Given the description of an element on the screen output the (x, y) to click on. 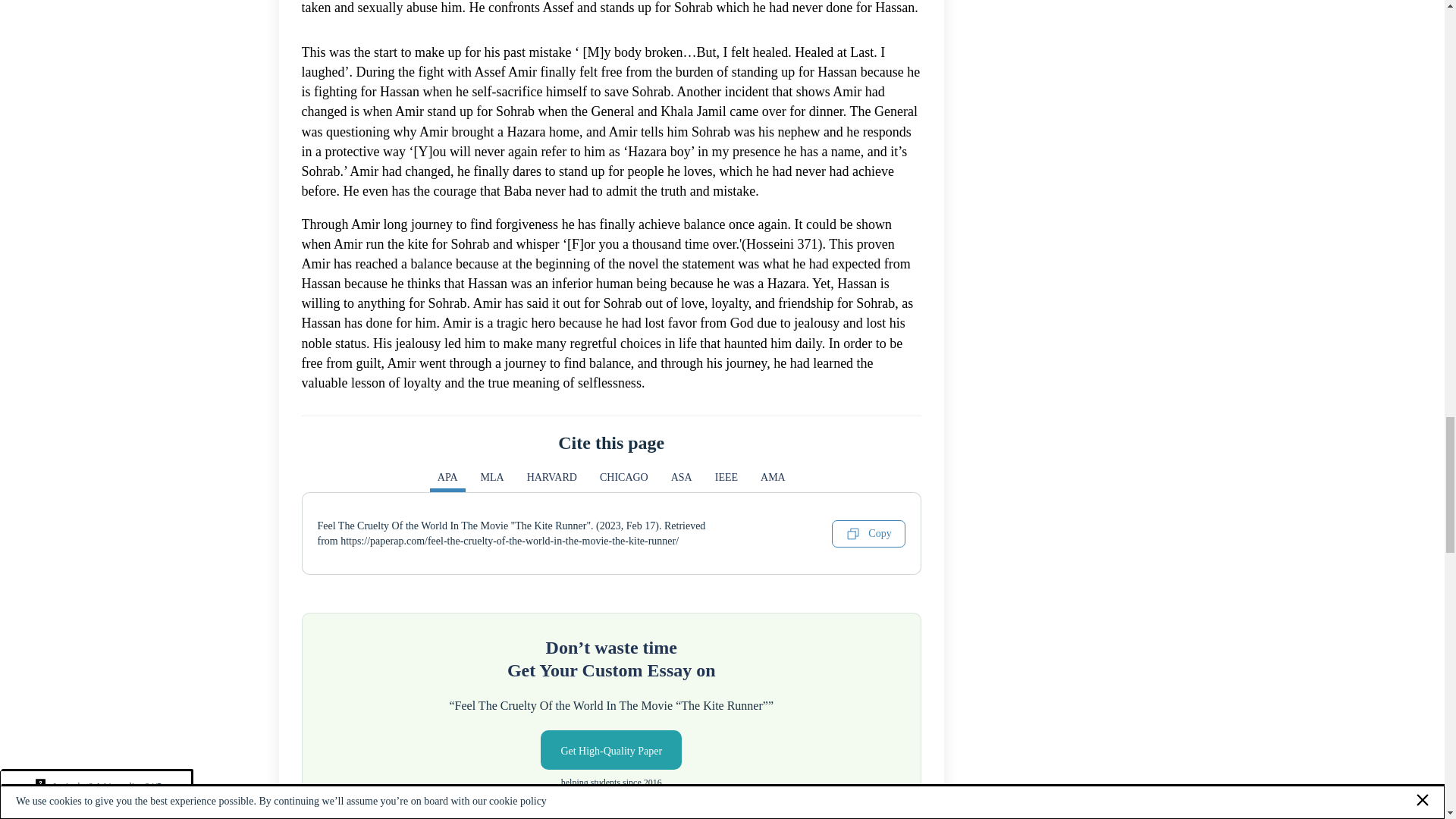
MLA (492, 481)
APA (447, 481)
AMA (772, 481)
Copy (868, 533)
HARVARD (552, 481)
CHICAGO (624, 481)
Get High-Quality Paper (610, 749)
ASA (681, 481)
IEEE (726, 481)
